Given the description of an element on the screen output the (x, y) to click on. 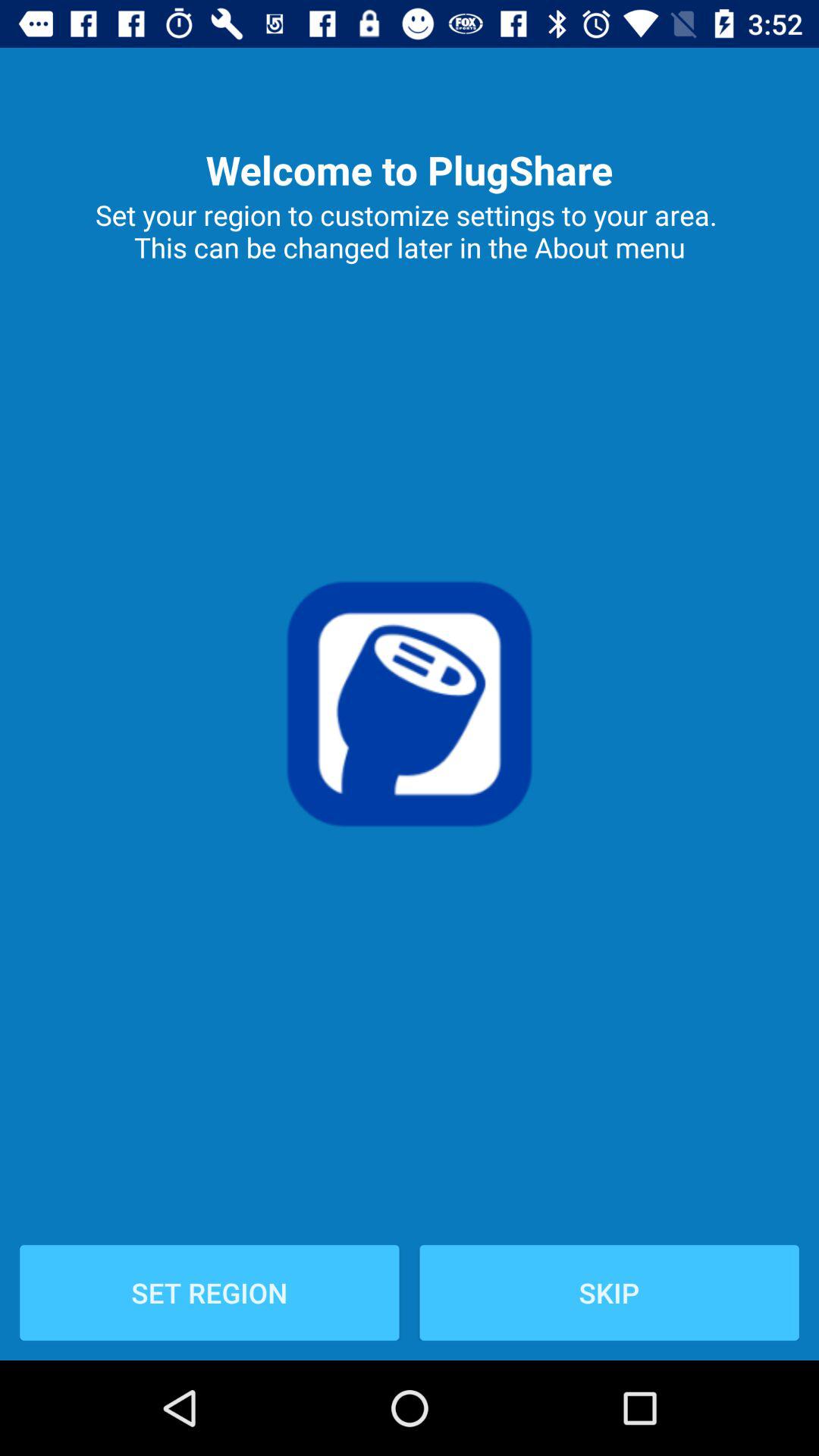
choose icon next to the set region item (609, 1292)
